Given the description of an element on the screen output the (x, y) to click on. 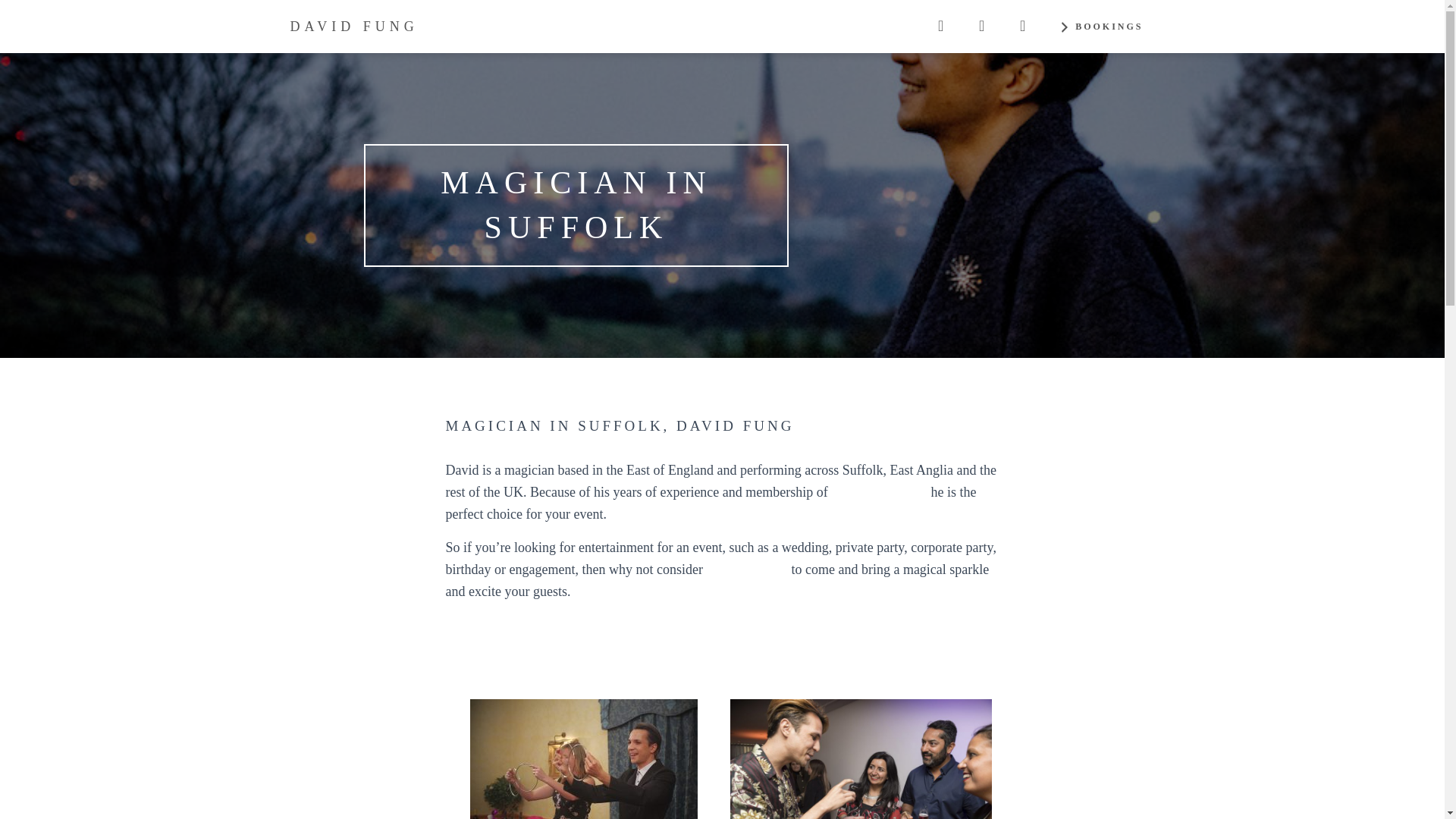
Bookings (1099, 26)
BOOKINGS (915, 652)
booking David (746, 569)
David Fung (354, 26)
BOOKINGS (1099, 26)
DAVID FUNG (354, 26)
The Magic Circle (879, 491)
